Given the description of an element on the screen output the (x, y) to click on. 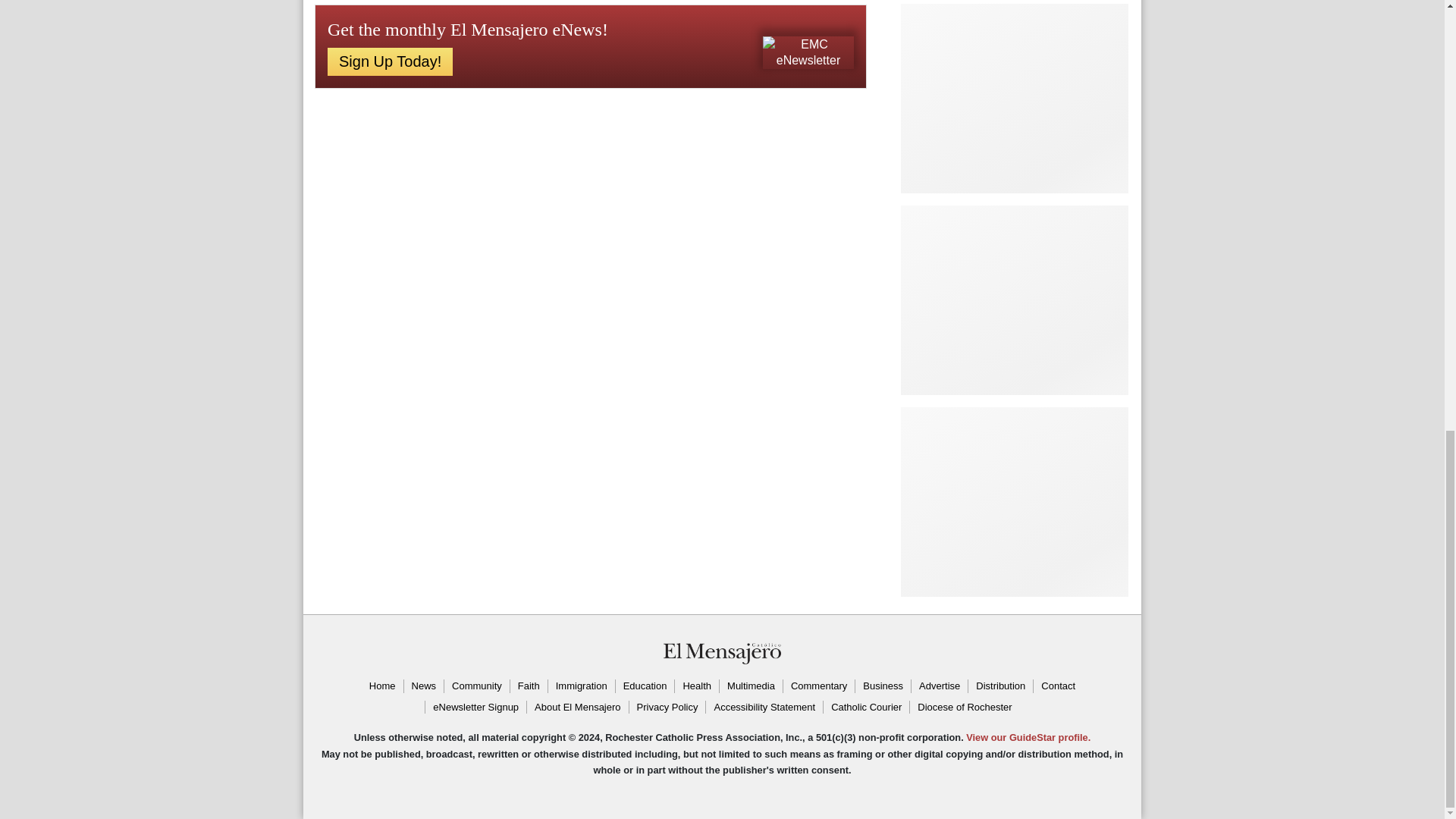
Home (382, 685)
Sign Up Today! (389, 61)
